Given the description of an element on the screen output the (x, y) to click on. 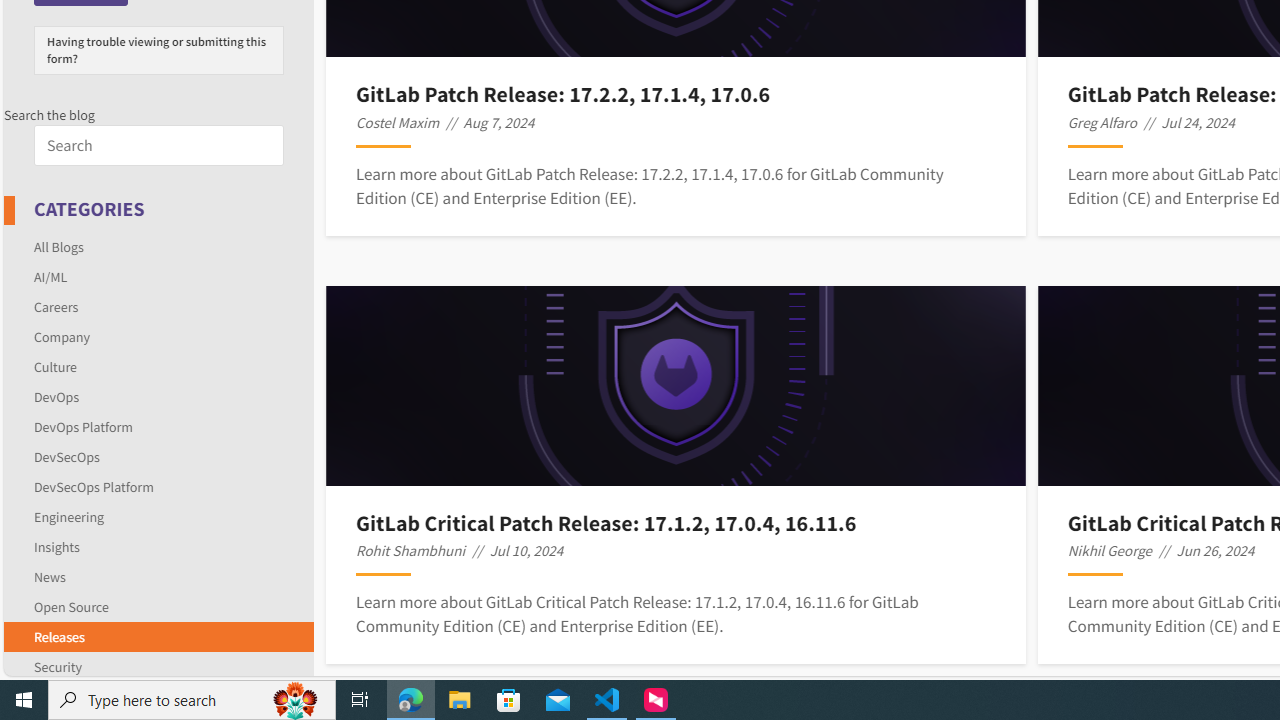
Greg Alfaro (1101, 121)
AI/ML (50, 276)
Careers (158, 305)
Security (57, 666)
All Blogs (158, 246)
DevOps (158, 395)
DevSecOps (66, 456)
Insights (158, 546)
Security (158, 663)
All Blogs (59, 245)
Post Image (676, 385)
Company (62, 335)
Careers (56, 306)
